Given the description of an element on the screen output the (x, y) to click on. 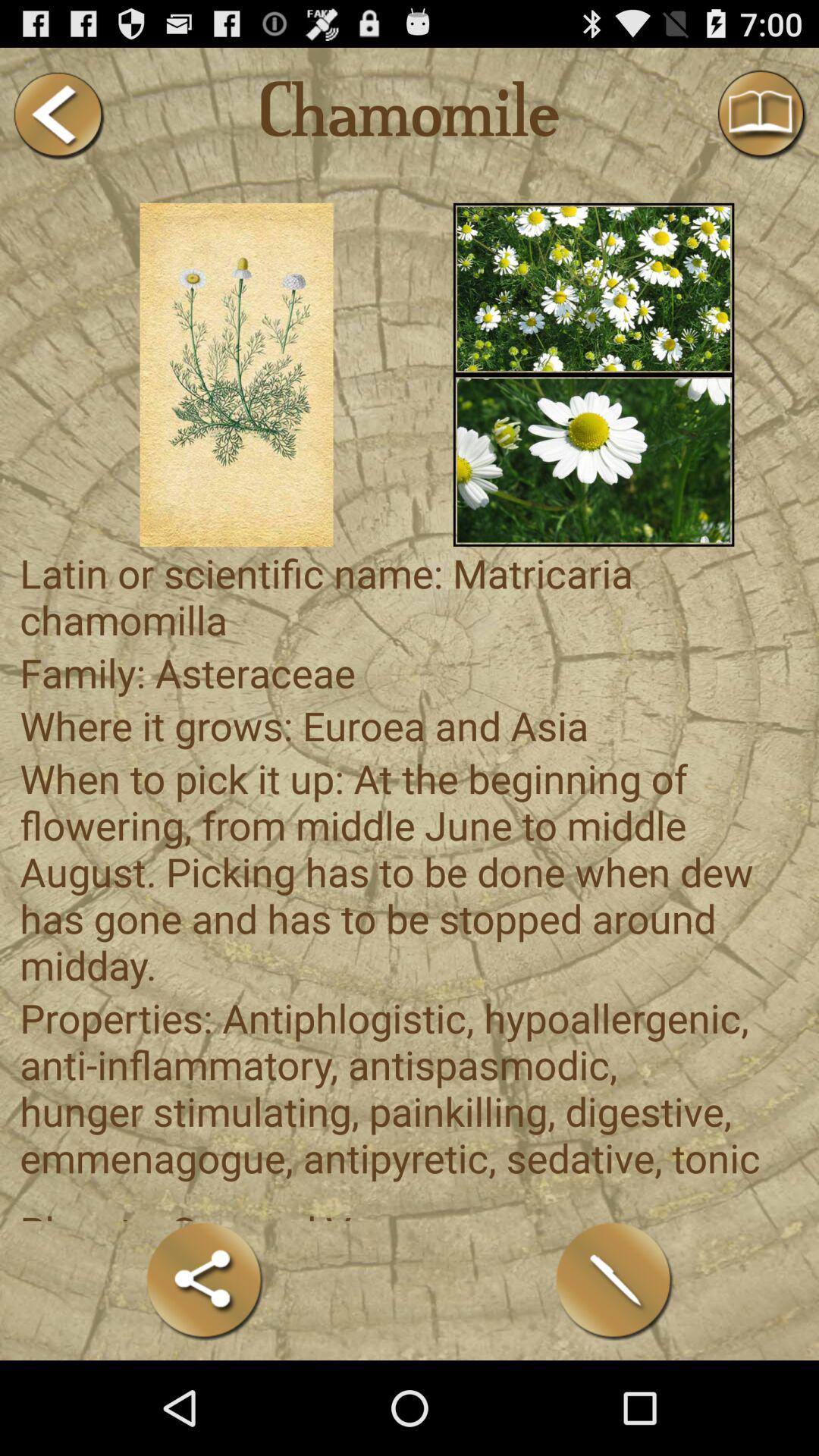
multiples (593, 288)
